Given the description of an element on the screen output the (x, y) to click on. 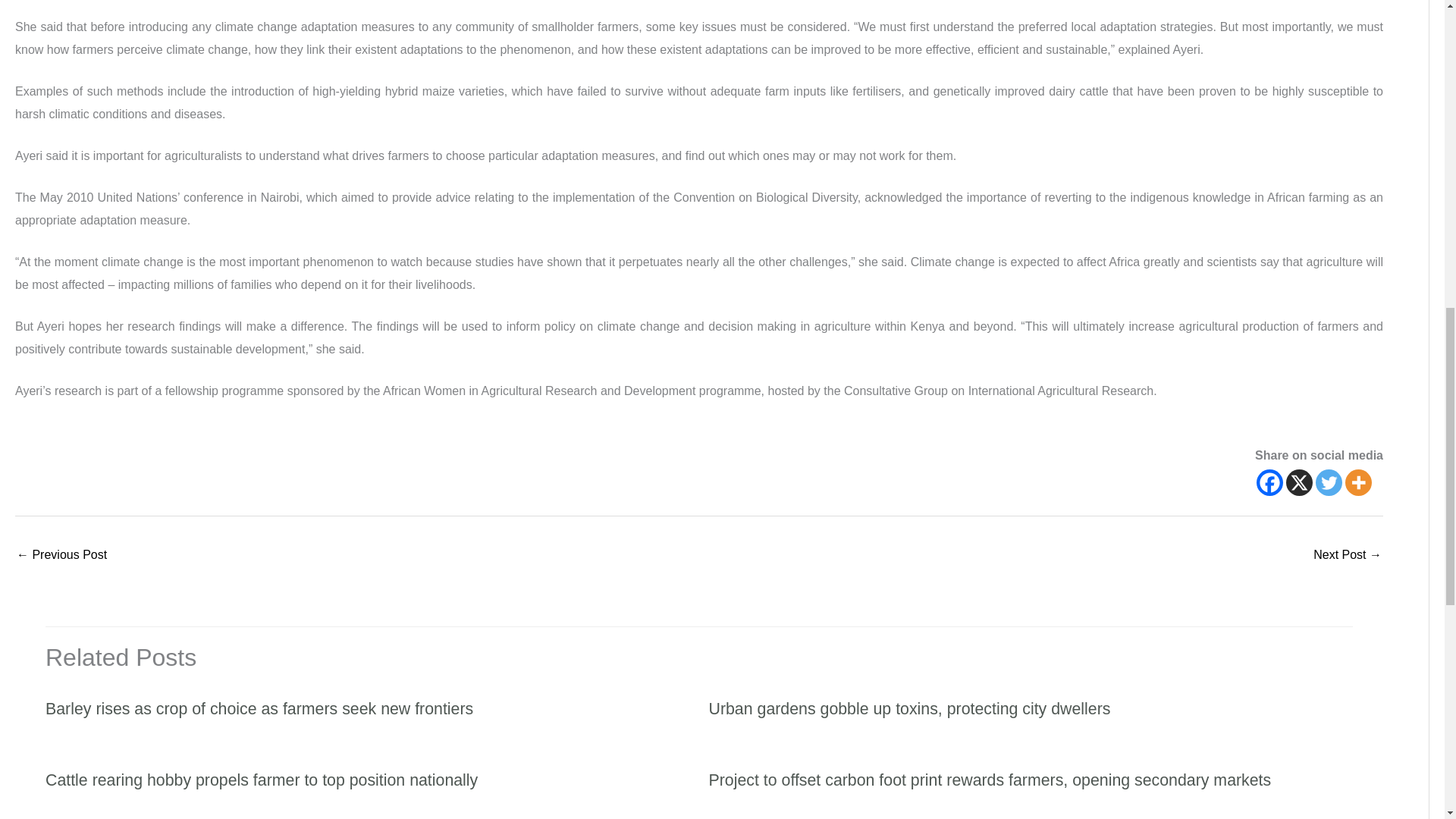
Barley rises as crop of choice as farmers seek new frontiers (259, 709)
Urban gardens gobble up toxins, protecting city dwellers (908, 709)
Ugandan farmers court urine to boost soil fertility (61, 556)
Facebook (1269, 482)
X (1299, 482)
Twitter (1329, 482)
More (1358, 482)
